Given the description of an element on the screen output the (x, y) to click on. 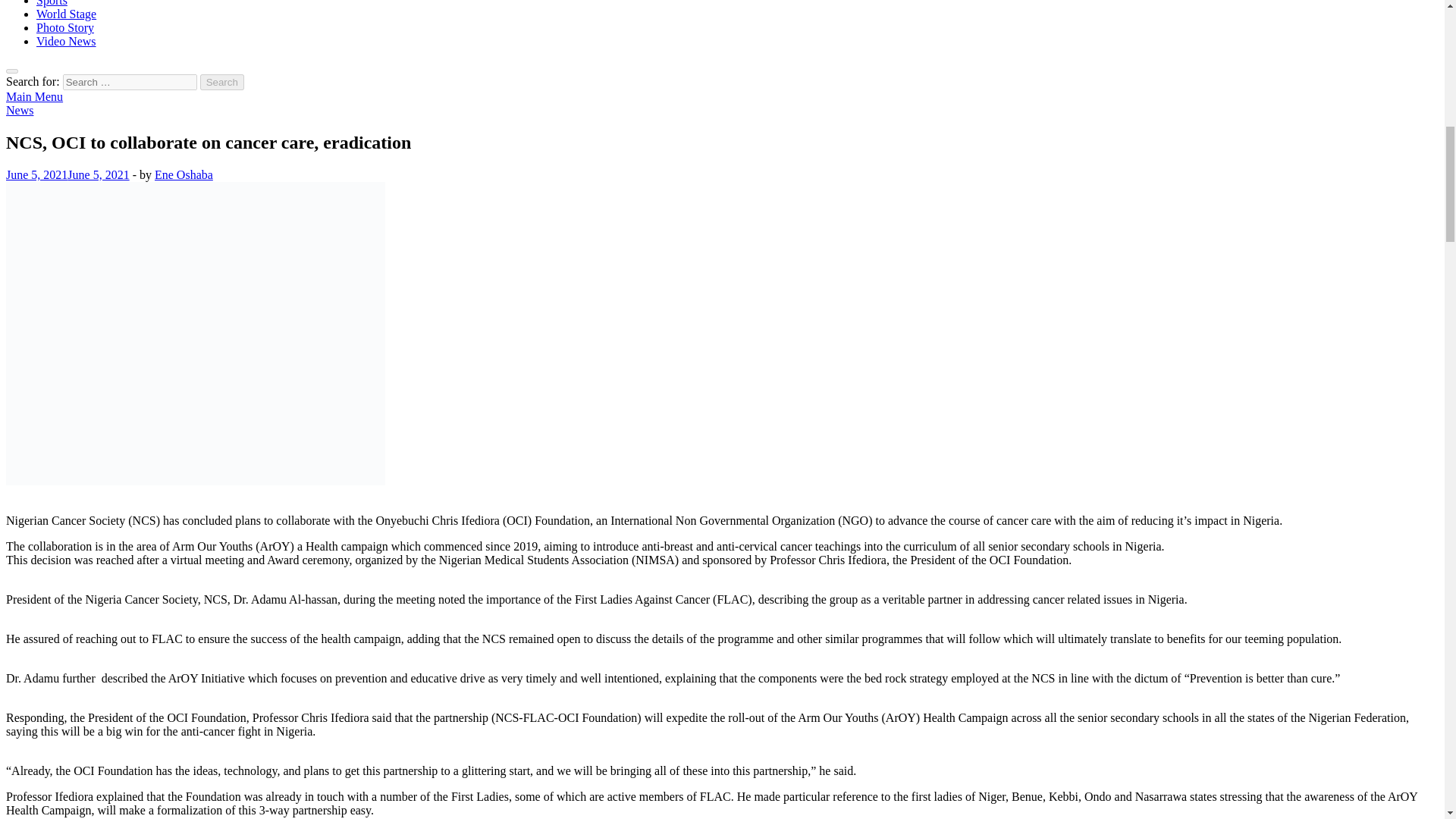
Search (222, 82)
Search (222, 82)
